Given the description of an element on the screen output the (x, y) to click on. 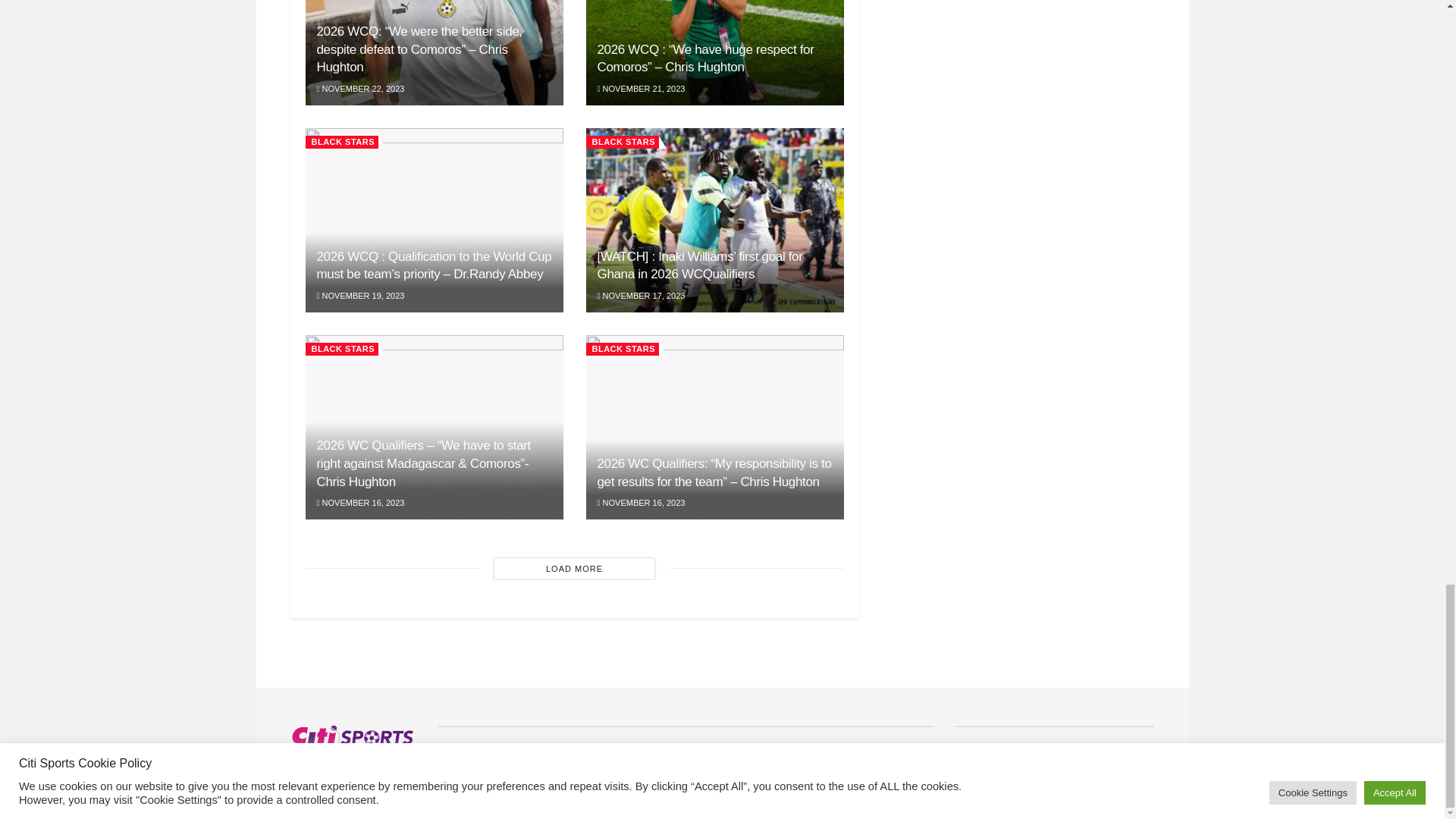
Citi Sports Online (357, 777)
